Given the description of an element on the screen output the (x, y) to click on. 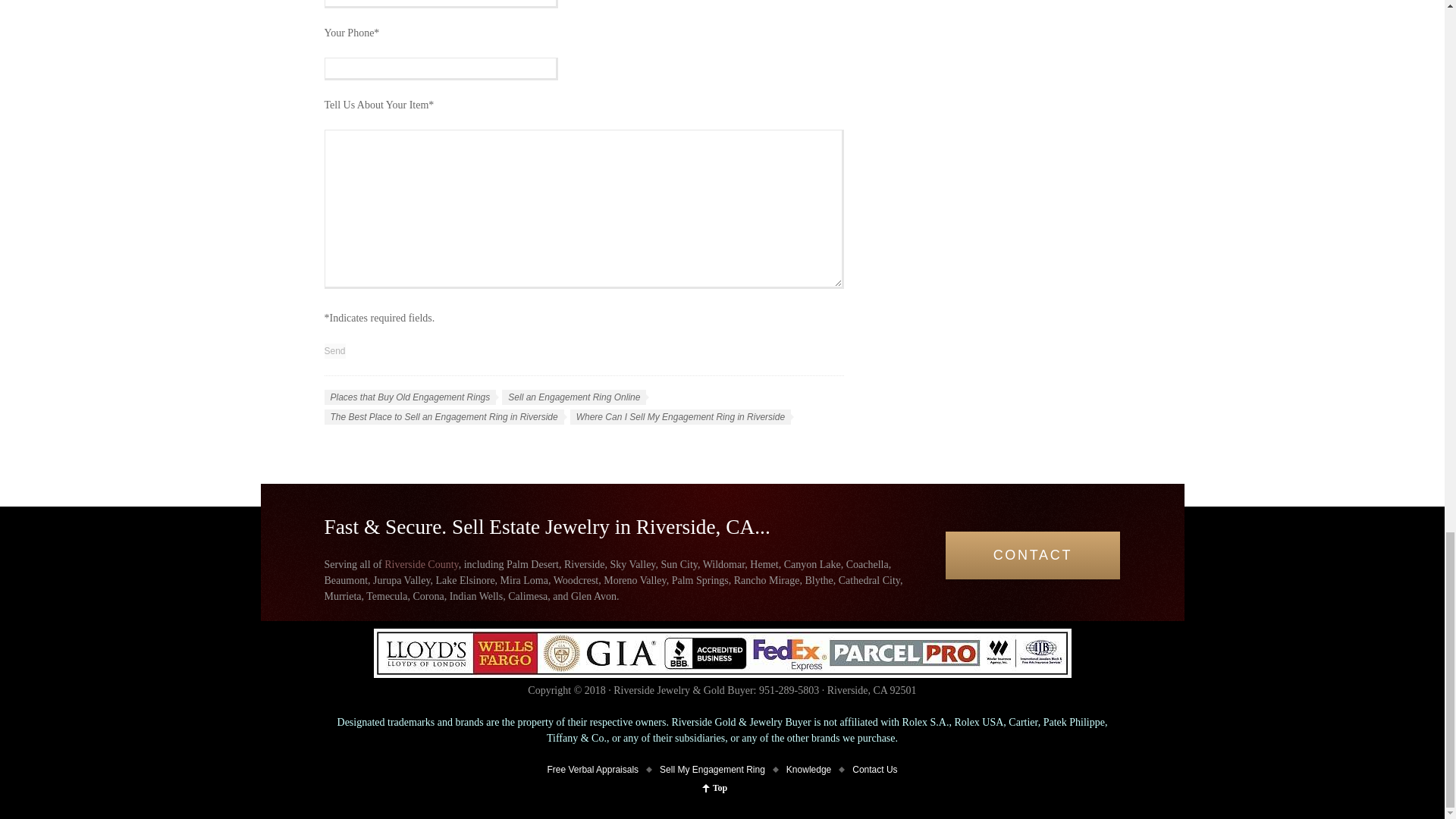
The Best Place to Sell an Engagement Ring in Riverside (444, 417)
Sell an Engagement Ring Online (574, 396)
Send (335, 350)
Send (335, 350)
Places that Buy Old Engagement Rings (410, 396)
Where Can I Sell My Engagement Ring in Riverside (680, 417)
